Given the description of an element on the screen output the (x, y) to click on. 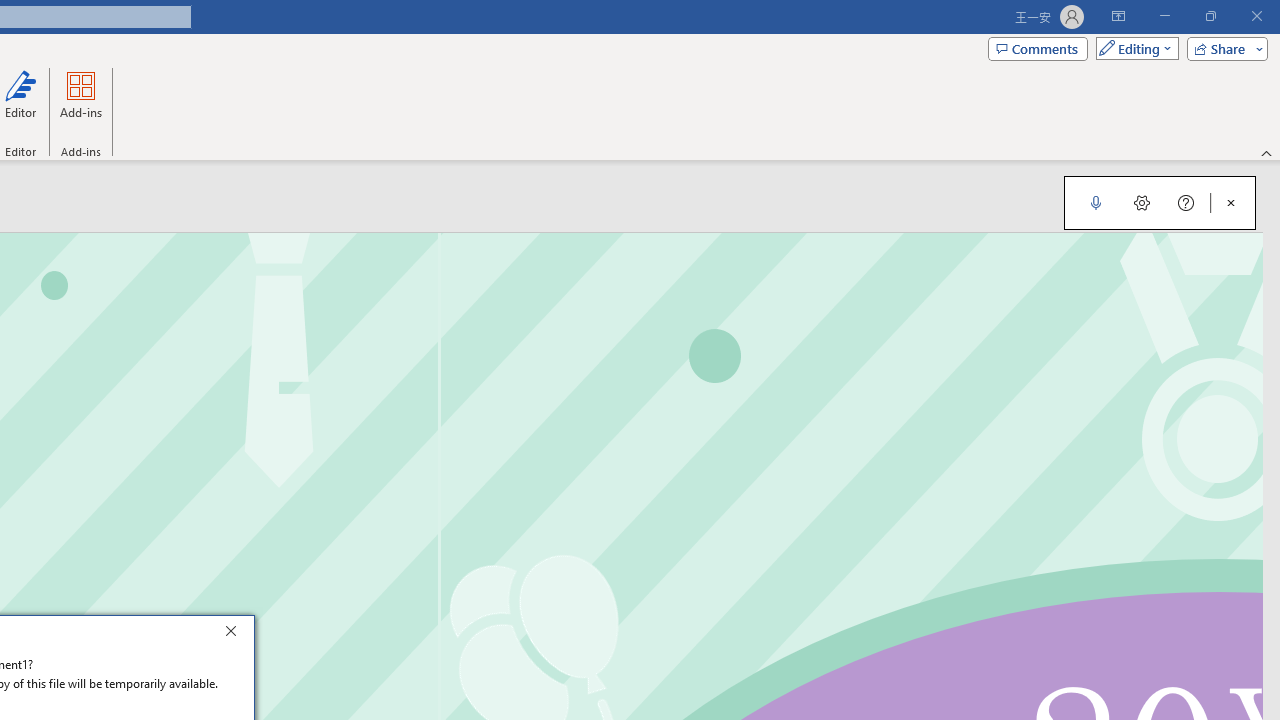
Start Dictation (1096, 202)
Dictation Settings (1142, 202)
